Given the description of an element on the screen output the (x, y) to click on. 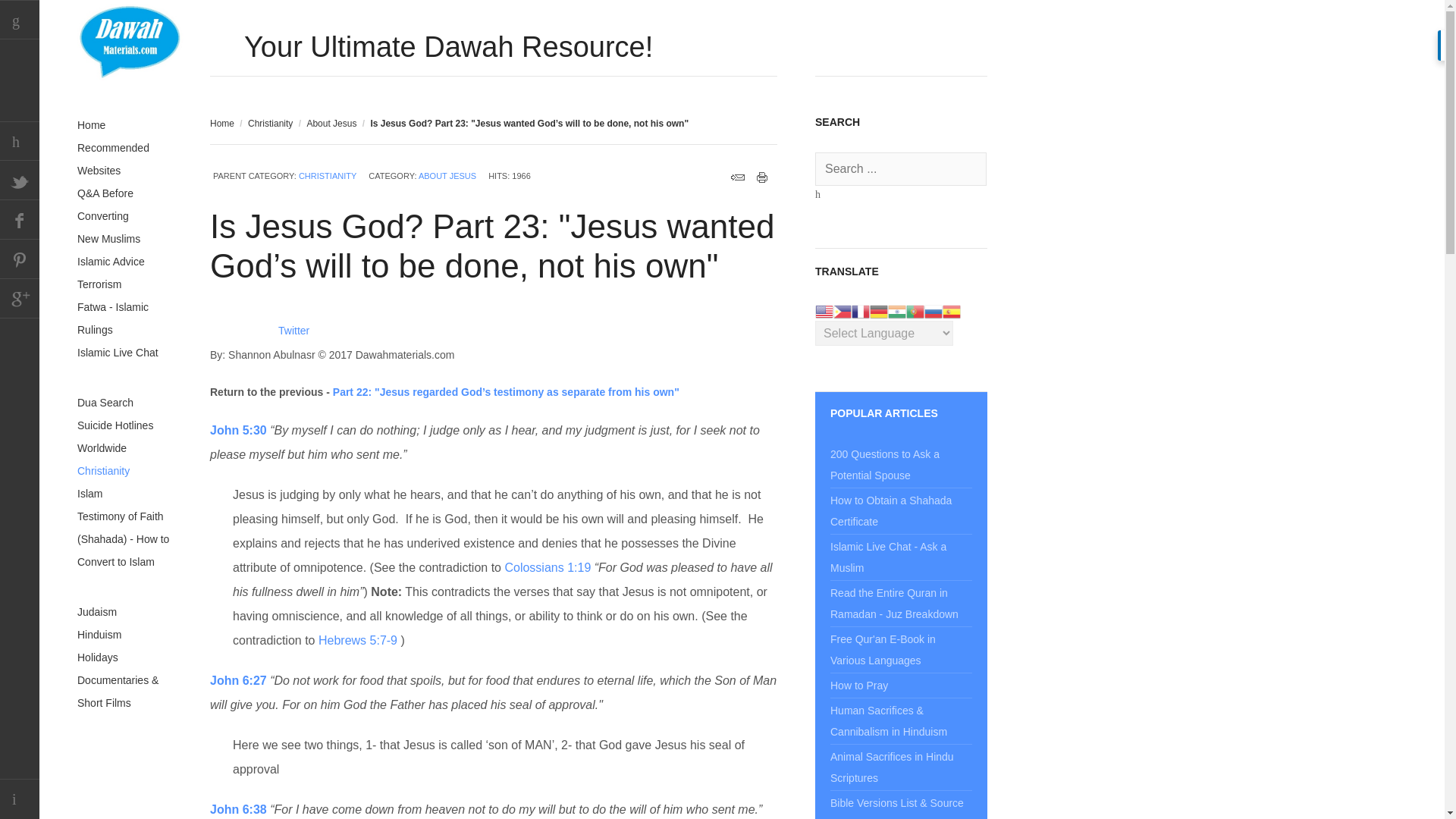
Portuguese (914, 309)
Twitter (293, 330)
Email this link to a friend (737, 176)
German (878, 309)
Spanish (951, 309)
EMAIL (737, 176)
French (860, 309)
PRINT (762, 176)
Back to top (19, 798)
Russian (933, 309)
Christianity (269, 122)
CHRISTIANITY (327, 175)
Search ... (901, 168)
Hindi (896, 309)
Home (221, 122)
